Given the description of an element on the screen output the (x, y) to click on. 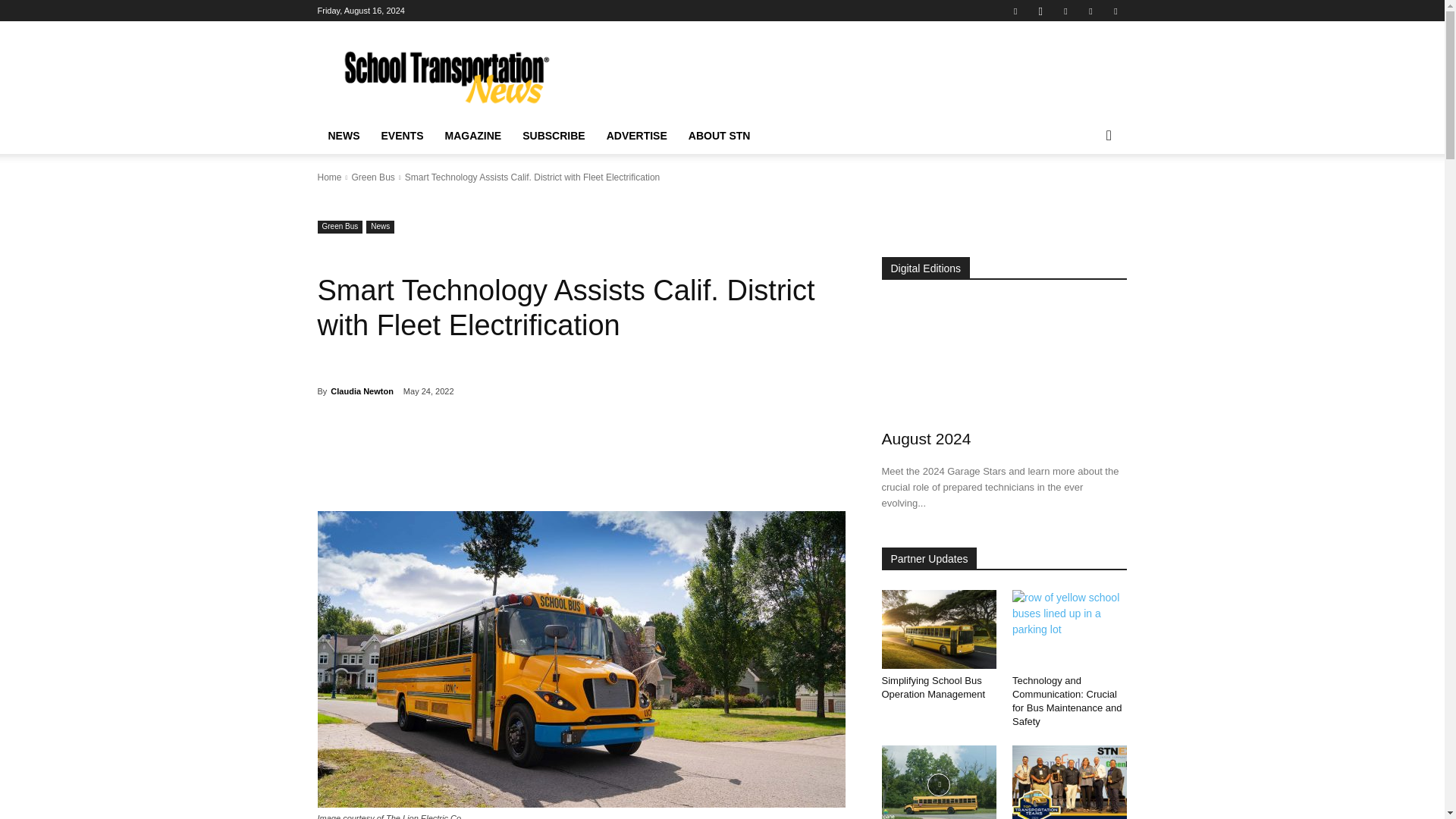
Facebook (1015, 10)
View all posts in Green Bus (372, 176)
Twitter (1090, 10)
Youtube (1114, 10)
Instagram (1040, 10)
Linkedin (1065, 10)
